Given the description of an element on the screen output the (x, y) to click on. 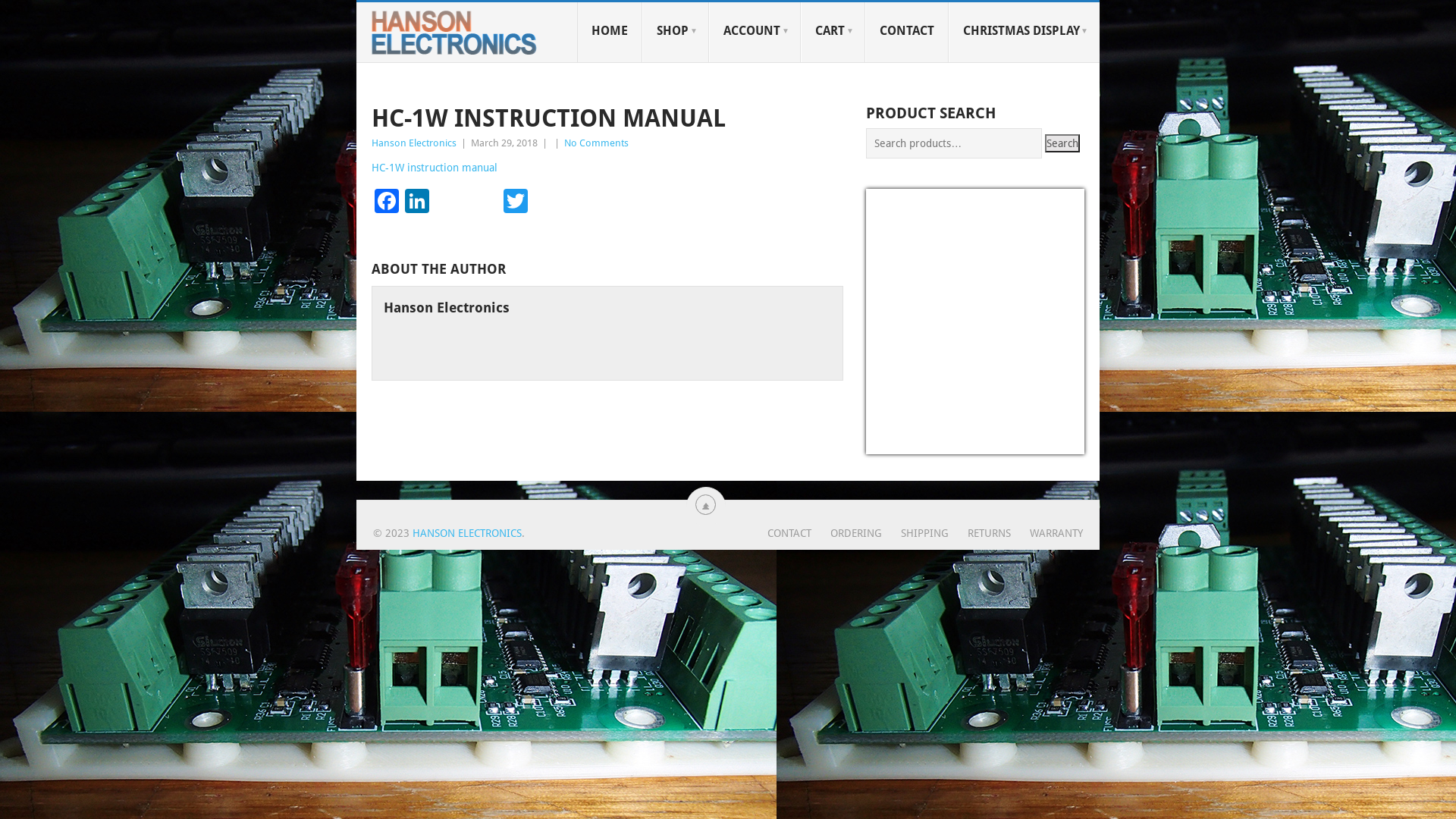
HOME Element type: text (609, 32)
ORDERING Element type: text (846, 533)
HC-1W instruction manual Element type: text (434, 167)
WARRANTY Element type: text (1046, 533)
ACCOUNT Element type: text (754, 32)
Twitter Element type: text (515, 202)
Currency.Wiki Element type: text (1040, 444)
No Comments Element type: text (596, 142)
Hanson Electronics Element type: text (413, 142)
SHIPPING Element type: text (914, 533)
USD/AUD Element type: text (901, 444)
Search Element type: text (1061, 143)
LinkedIn Element type: text (416, 202)
CONTACT Element type: text (906, 32)
CART Element type: text (832, 32)
Facebook Element type: text (386, 202)
SHOP Element type: text (675, 32)
RETURNS Element type: text (979, 533)
HANSON ELECTRONICS Element type: text (466, 533)
CHRISTMAS DISPLAY Element type: text (1023, 32)
CONTACT Element type: text (789, 533)
